Given the description of an element on the screen output the (x, y) to click on. 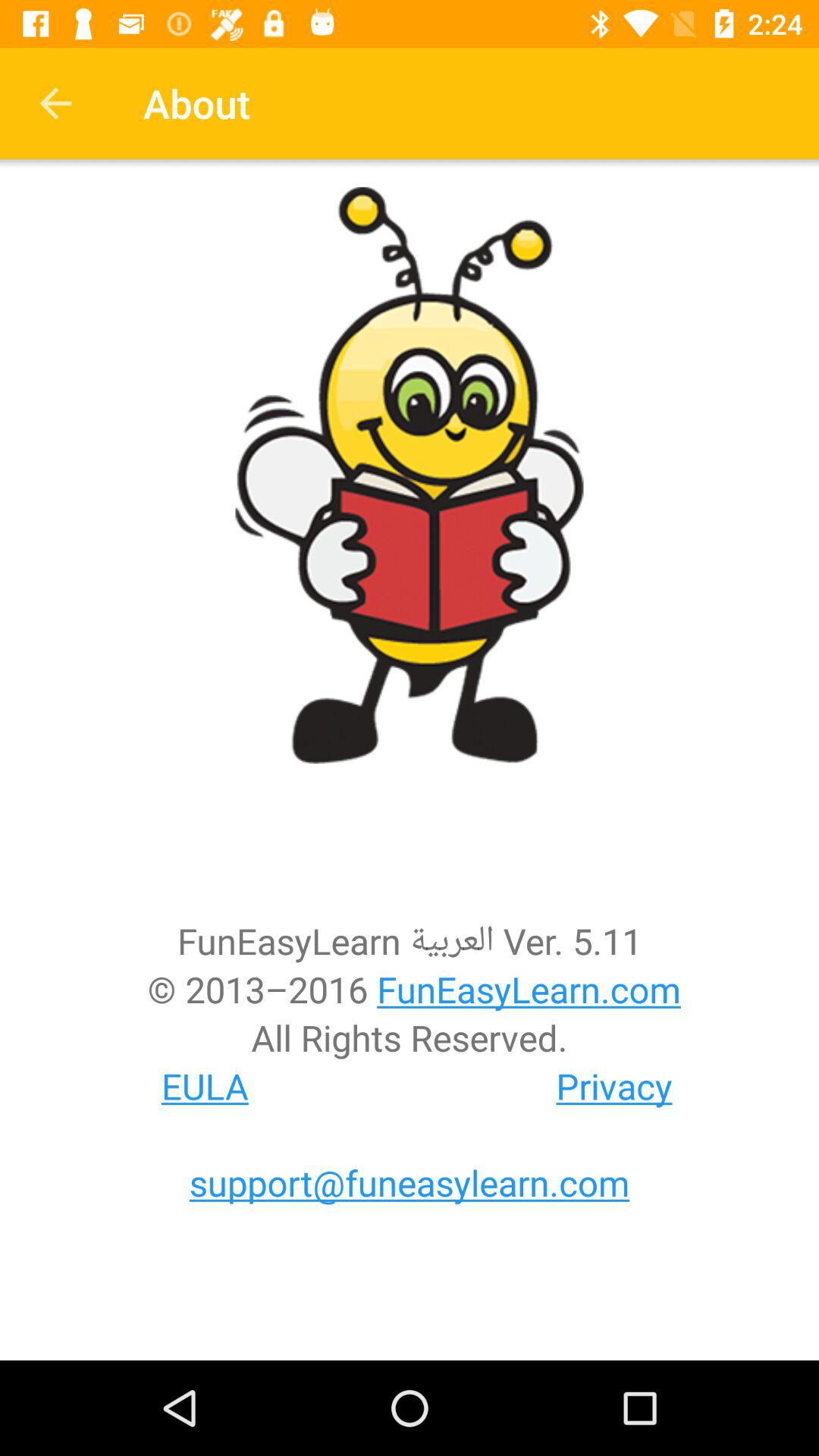
turn on icon above the all rights reserved. (409, 989)
